Given the description of an element on the screen output the (x, y) to click on. 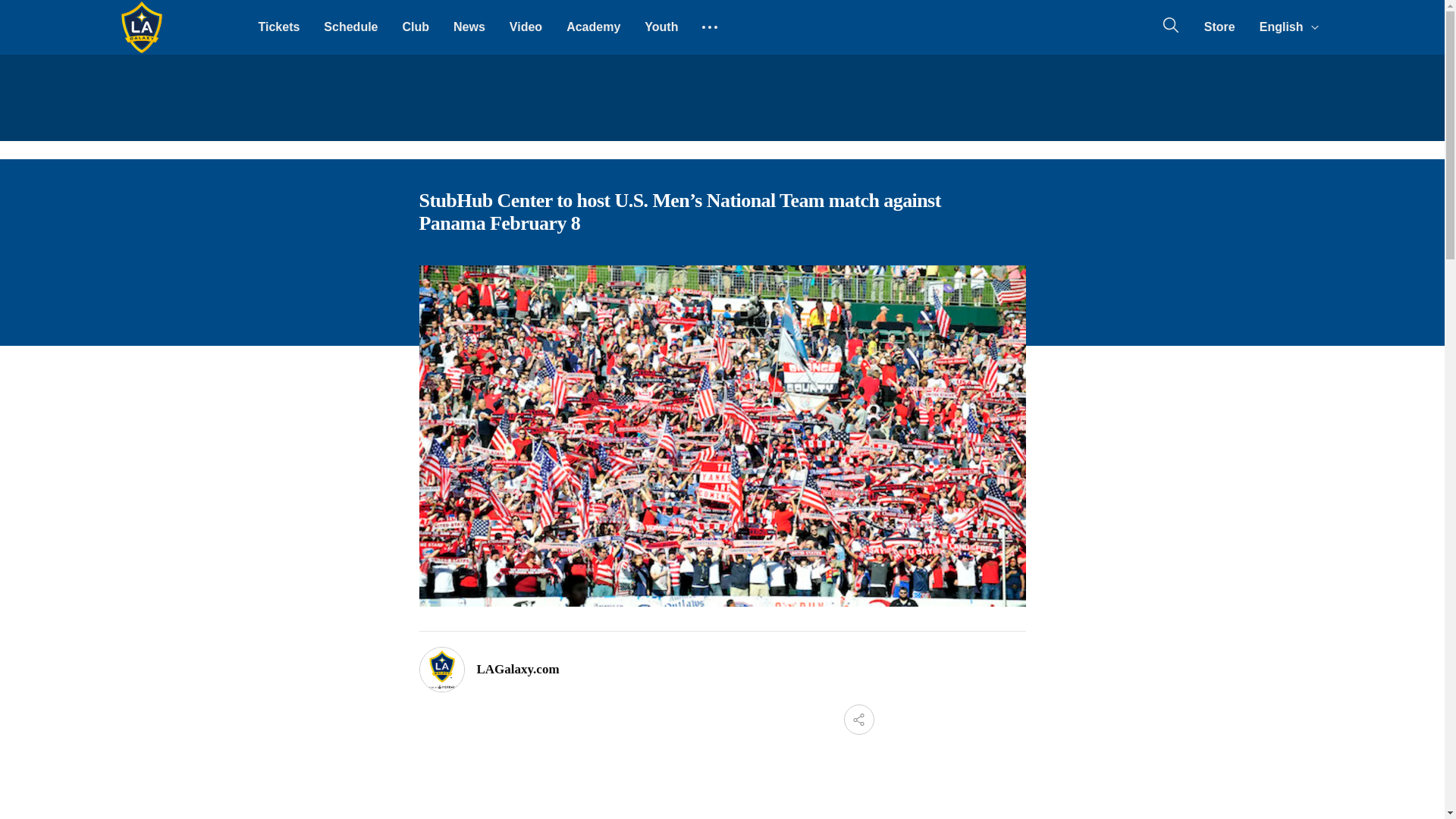
Academy (592, 26)
Schedule (350, 26)
Tickets (278, 26)
Store (1219, 26)
LA Galaxy (141, 27)
English (1288, 27)
News (469, 26)
MNT vs. Korea Republic: Highlights - Feb. 1, 2014 (646, 782)
Video (525, 26)
Youth (660, 26)
